Given the description of an element on the screen output the (x, y) to click on. 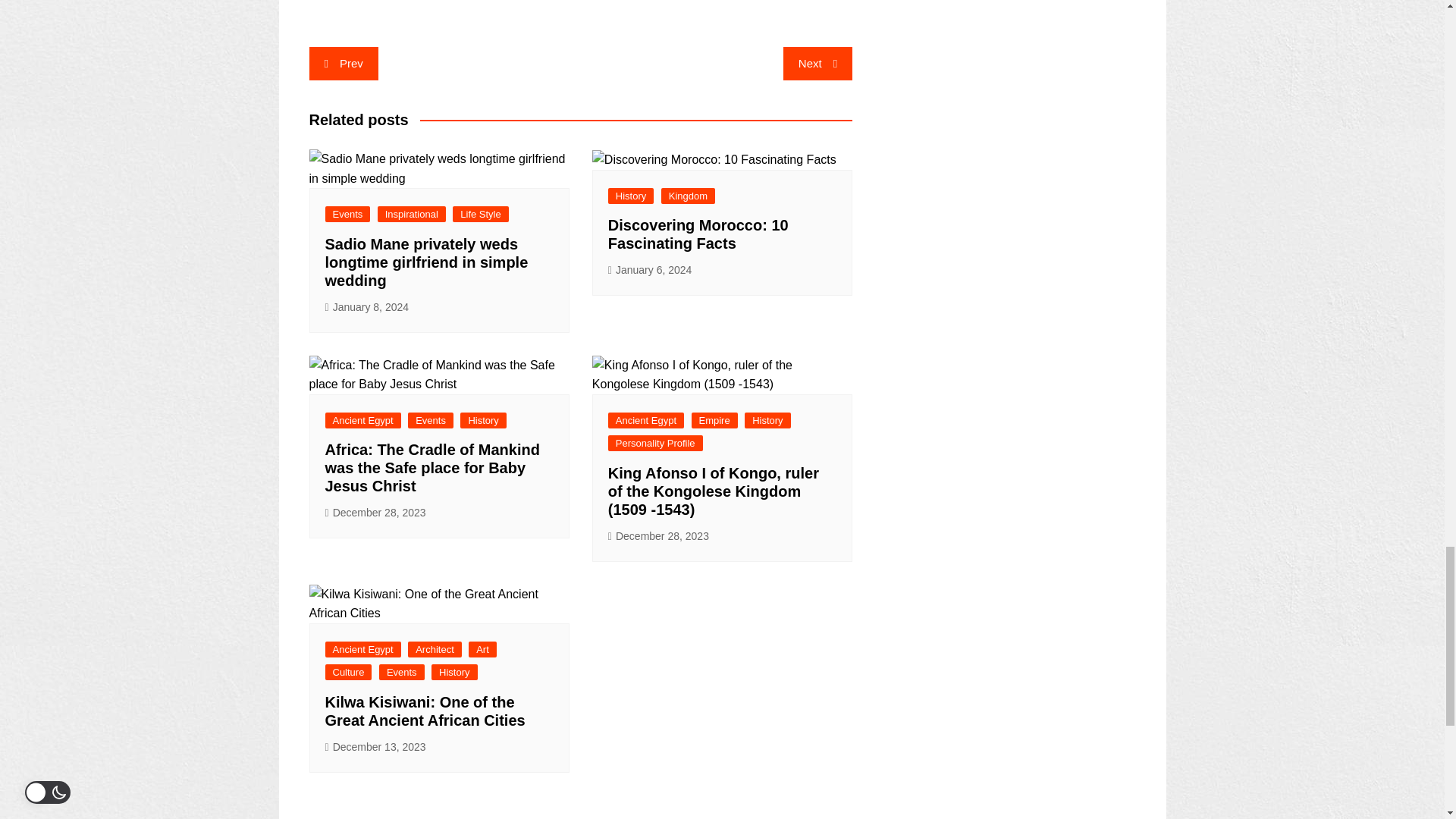
January 6, 2024 (650, 270)
Life Style (480, 213)
Events (346, 213)
January 8, 2024 (366, 307)
History (630, 195)
Prev (343, 63)
Kingdom (687, 195)
Inspirational (411, 213)
Next (817, 63)
Discovering Morocco: 10 Fascinating Facts (698, 234)
